Given the description of an element on the screen output the (x, y) to click on. 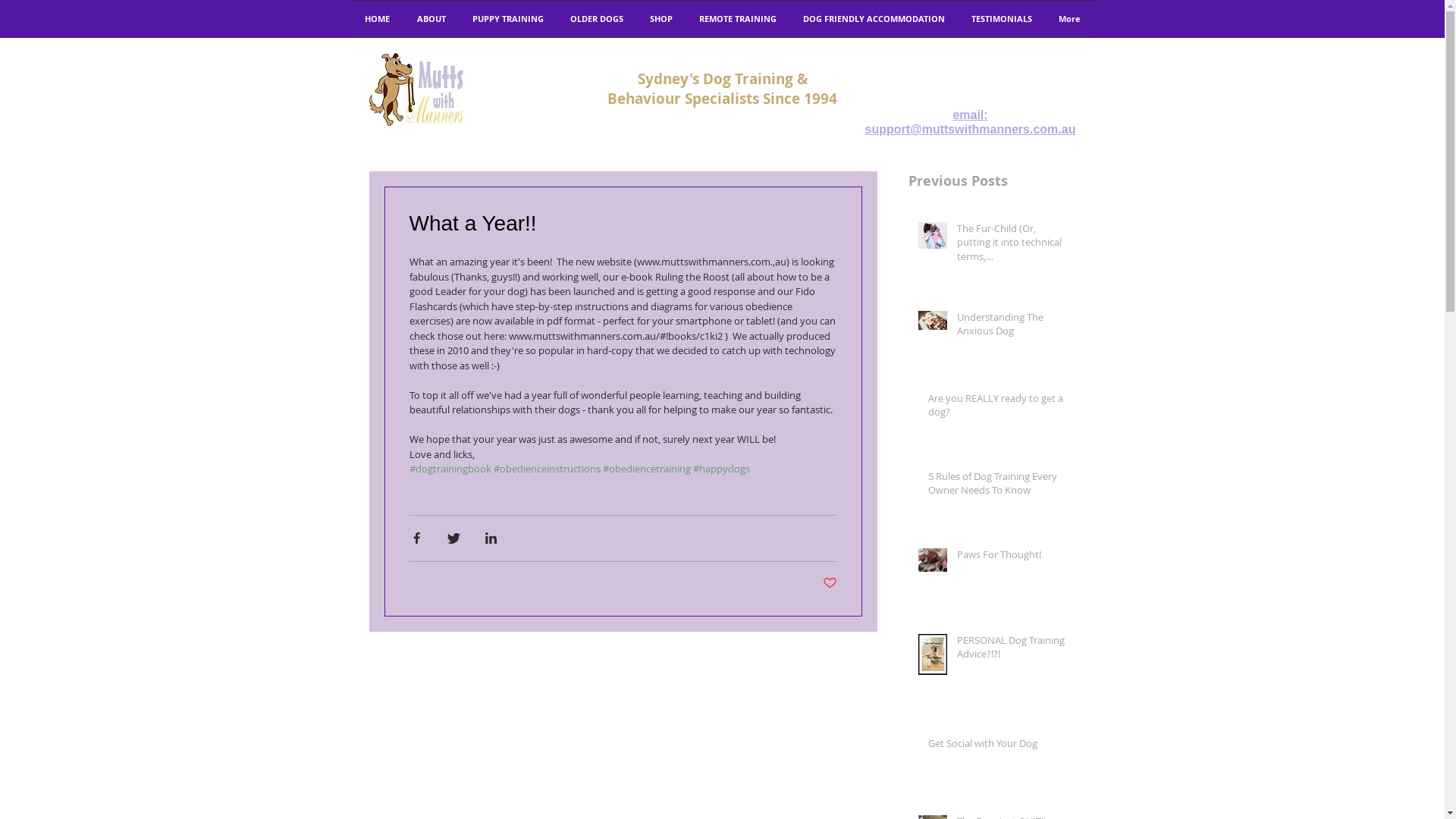
email: support@muttswithmanners.com.au Element type: text (970, 123)
SHOP Element type: text (661, 18)
DOG FRIENDLY ACCOMMODATION Element type: text (874, 18)
ABOUT Element type: text (431, 18)
PERSONAL Dog Training Advice?!?! Element type: text (1011, 649)
5 Rules of Dog Training Every Owner Needs To Know Element type: text (997, 485)
#obediencetraining Element type: text (646, 468)
Are you REALLY ready to get a dog? Element type: text (997, 407)
TESTIMONIALS Element type: text (1001, 18)
Understanding The Anxious Dog Element type: text (1011, 326)
Post not marked as liked Element type: text (829, 583)
Puppy training, dog trainer Element type: hover (415, 88)
#dogtrainingbook Element type: text (450, 468)
Paws For Thought! Element type: text (1011, 557)
PUPPY TRAINING Element type: text (508, 18)
HOME Element type: text (376, 18)
Get Social with Your Dog Element type: text (997, 746)
REMOTE TRAINING Element type: text (737, 18)
#happydogs Element type: text (721, 468)
OLDER DOGS Element type: text (596, 18)
#obedienceinstructions Element type: text (545, 468)
